Given the description of an element on the screen output the (x, y) to click on. 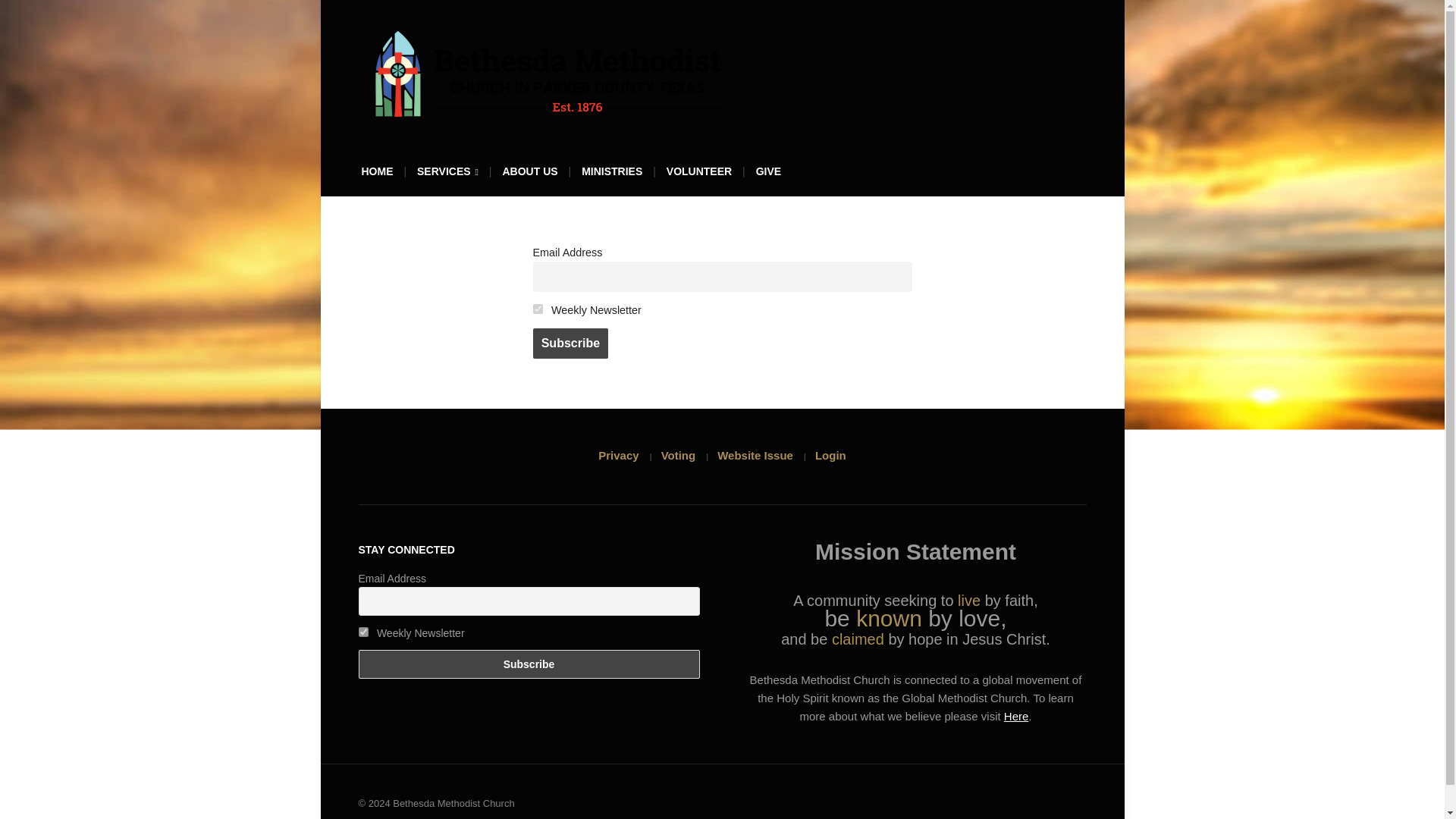
2 (363, 631)
SERVICES (447, 176)
Website Issue (755, 454)
ABOUT US (529, 175)
VOLUNTEER (699, 175)
Subscribe (528, 664)
HOME (377, 175)
Privacy (618, 454)
Subscribe (570, 343)
Login (830, 454)
